Given the description of an element on the screen output the (x, y) to click on. 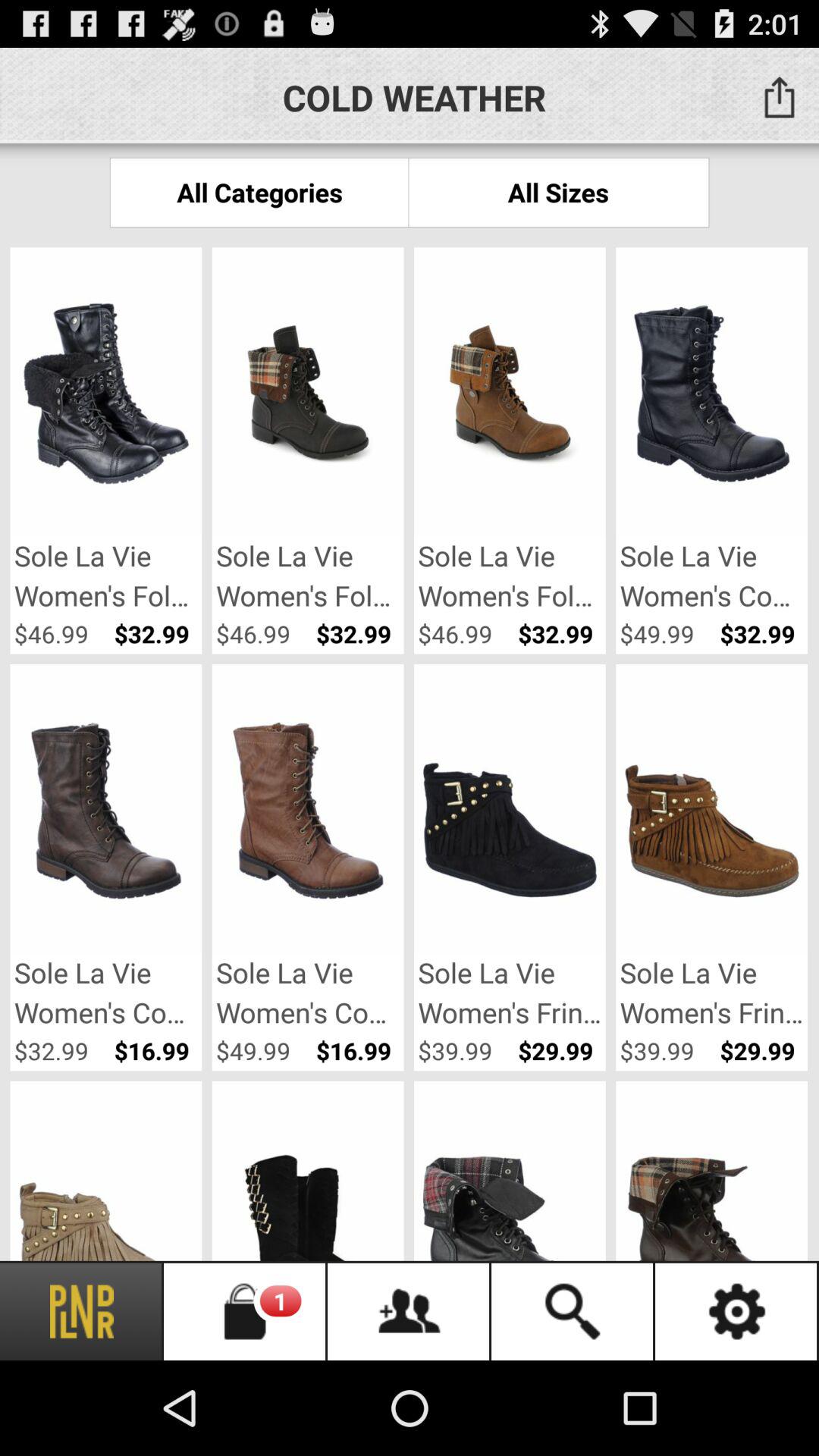
select the app below the cold weather icon (558, 192)
